Given the description of an element on the screen output the (x, y) to click on. 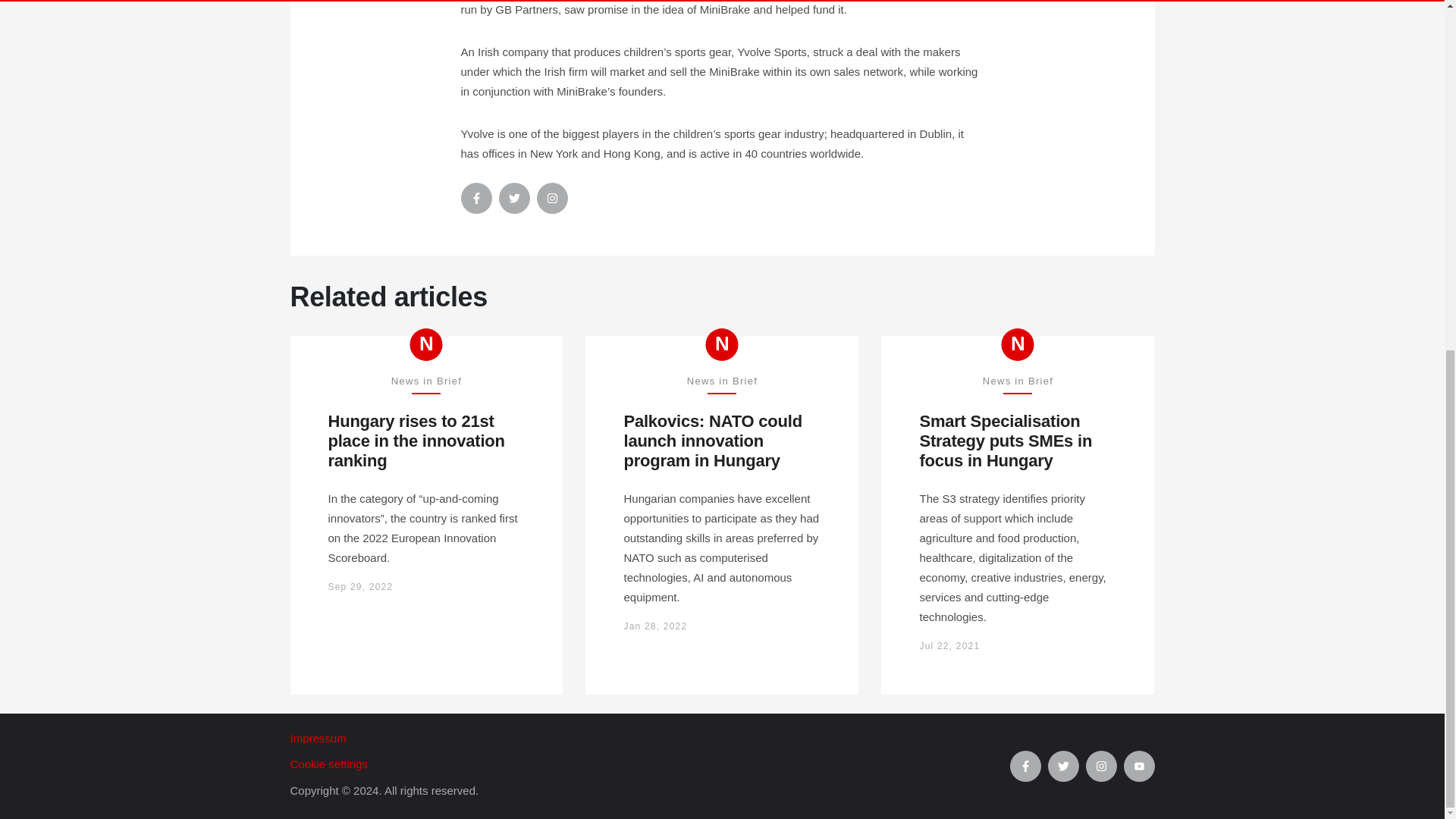
Facebook icon (476, 197)
N (1017, 344)
News in Brief (722, 344)
Hungary rises to 21st place in the innovation ranking (425, 441)
Palkovics: NATO could launch innovation program in Hungary (722, 441)
Instagram icon (552, 197)
Cookie settings (649, 764)
Twitter- icon (514, 197)
N (722, 344)
N (426, 344)
